Given the description of an element on the screen output the (x, y) to click on. 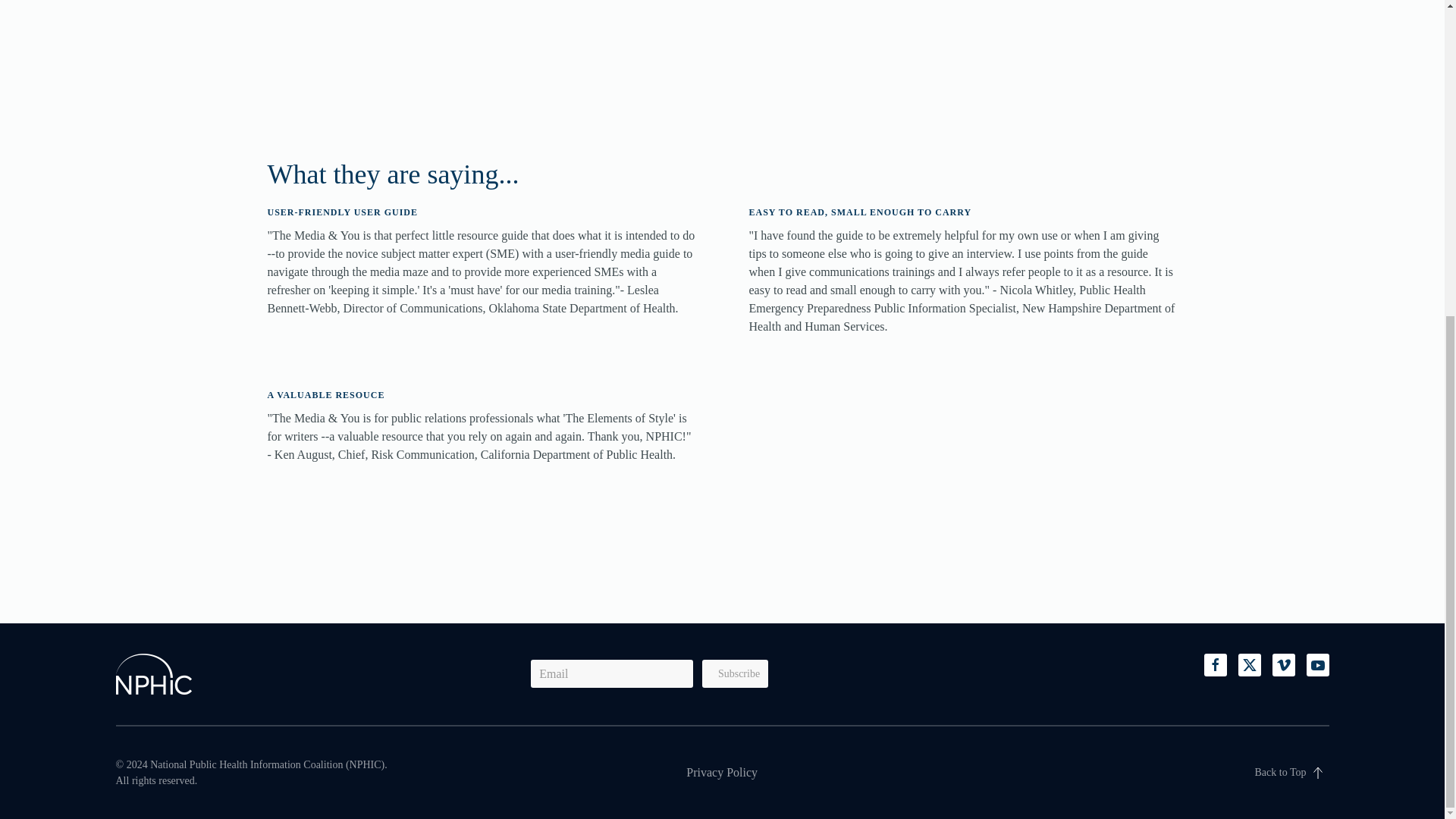
Subscribe (734, 673)
